Given the description of an element on the screen output the (x, y) to click on. 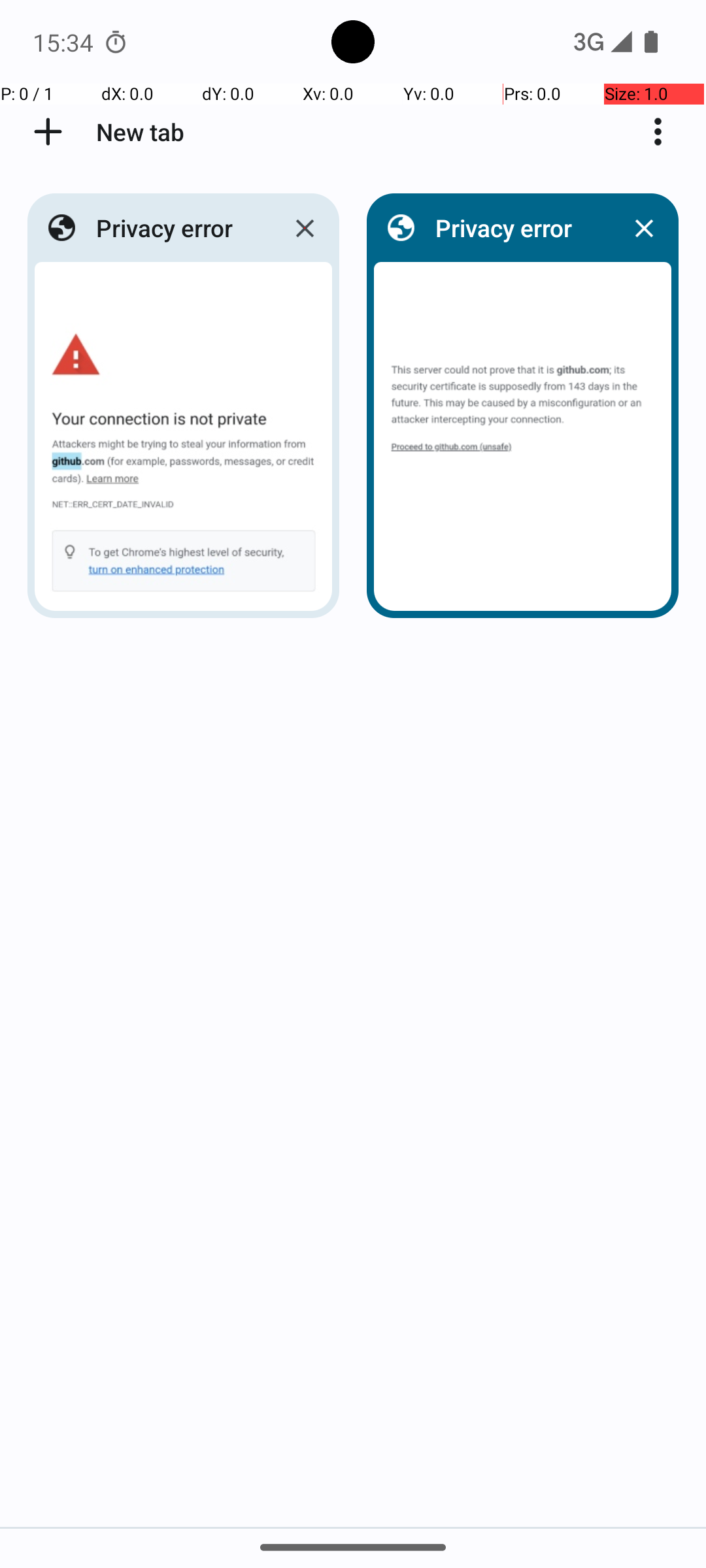
Close Privacy error tab Element type: android.widget.ImageView (304, 227)
